Given the description of an element on the screen output the (x, y) to click on. 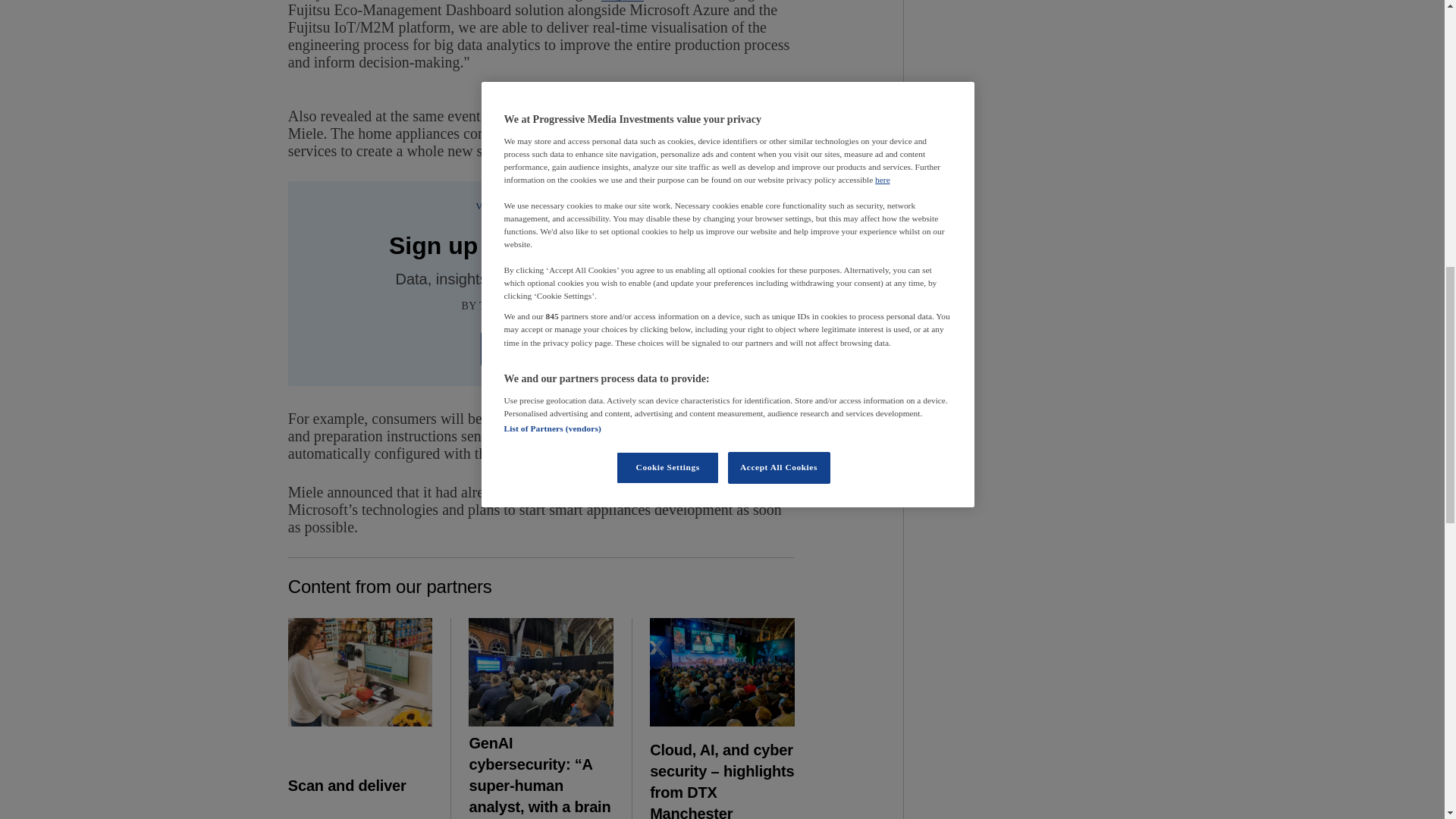
Scan and deliver (360, 672)
